Given the description of an element on the screen output the (x, y) to click on. 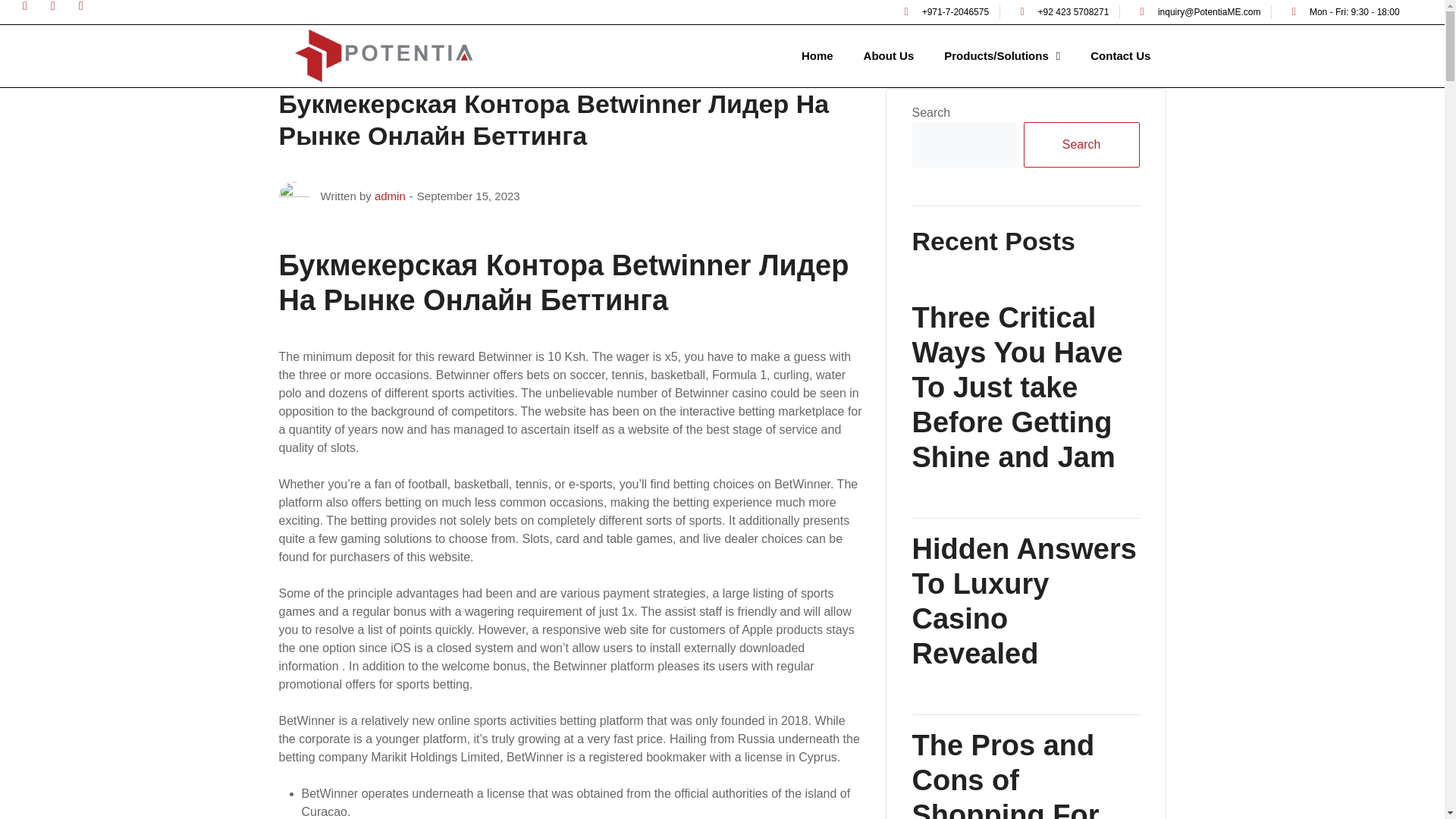
Contact Us (1120, 56)
View all posts by admin (390, 195)
Hidden Answers To Luxury Casino Revealed (1024, 600)
The Pros and Cons of Shopping For Glucotrust Used. (1024, 773)
admin (390, 195)
About Us (888, 56)
Search (1081, 144)
Home (817, 56)
